Given the description of an element on the screen output the (x, y) to click on. 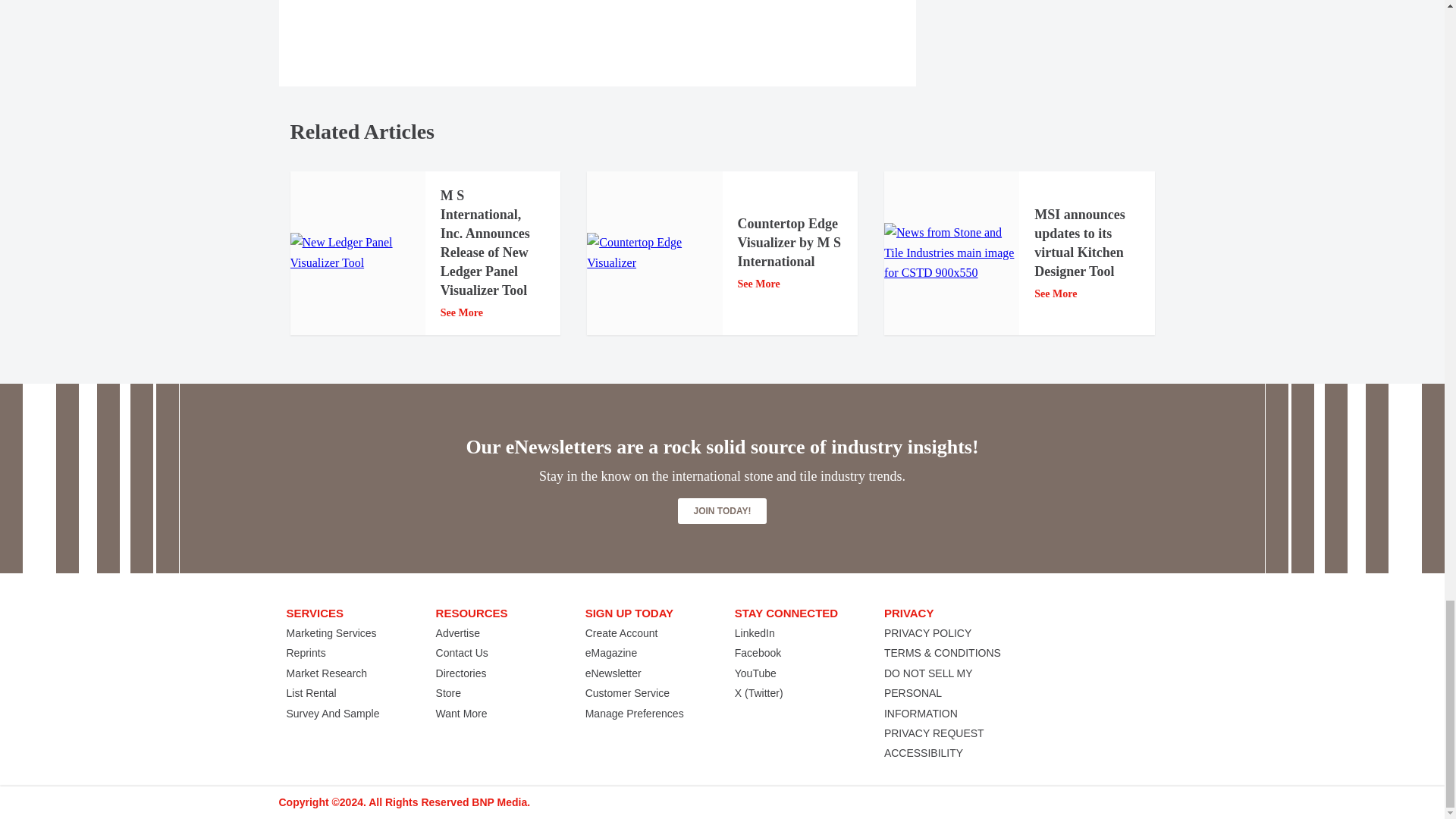
New Ledger Panel Visualizer Tool (357, 252)
Interaction questions (1052, 40)
CSTD News (951, 252)
Countertop Edge Visualizer (654, 252)
